Given the description of an element on the screen output the (x, y) to click on. 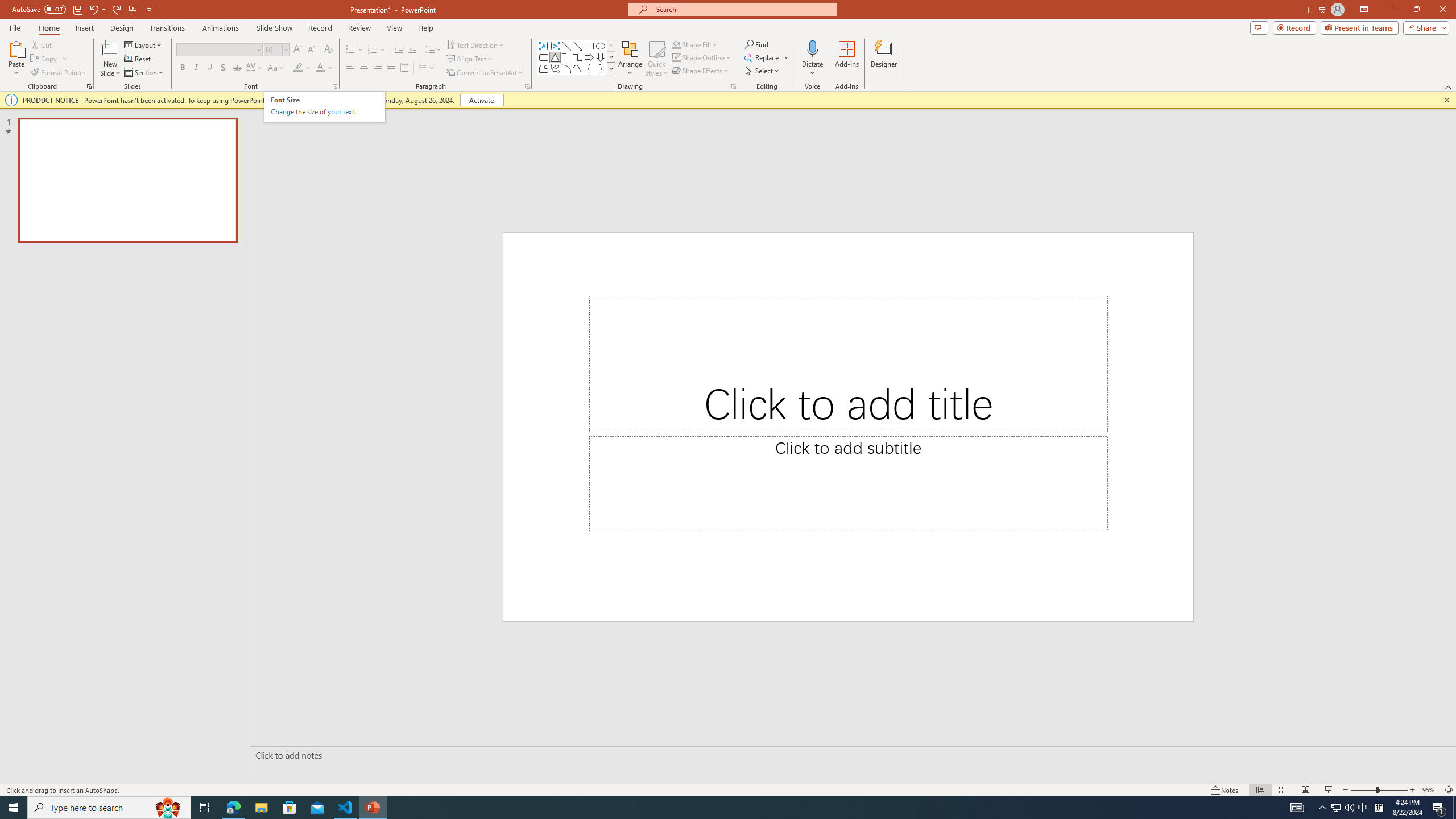
Class: NetUIScrollBar (1448, 416)
symbol_LLM.pdf (1210, 102)
Something.md (1405, 557)
2312.03032v2.pdf (1275, 254)
2406.12373v2.pdf (1340, 254)
Page down (1448, 785)
Indent Right (488, 111)
Line down (1448, 811)
PyCharm 2022.2 (163, 487)
